Given the description of an element on the screen output the (x, y) to click on. 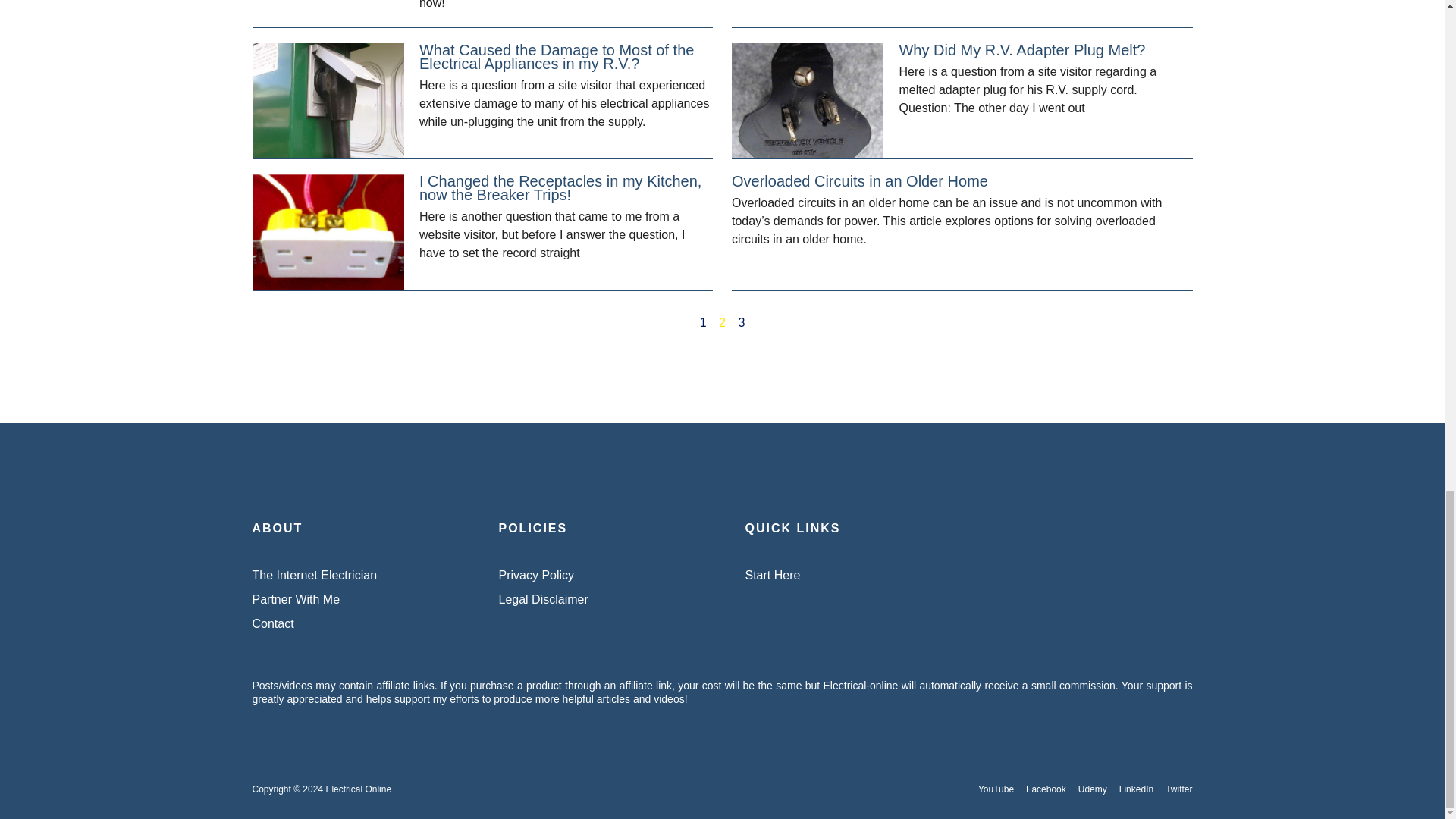
QUICK LINKS (844, 540)
POLICIES (968, 789)
ABOUT (599, 587)
Start Here (599, 540)
